Given the description of an element on the screen output the (x, y) to click on. 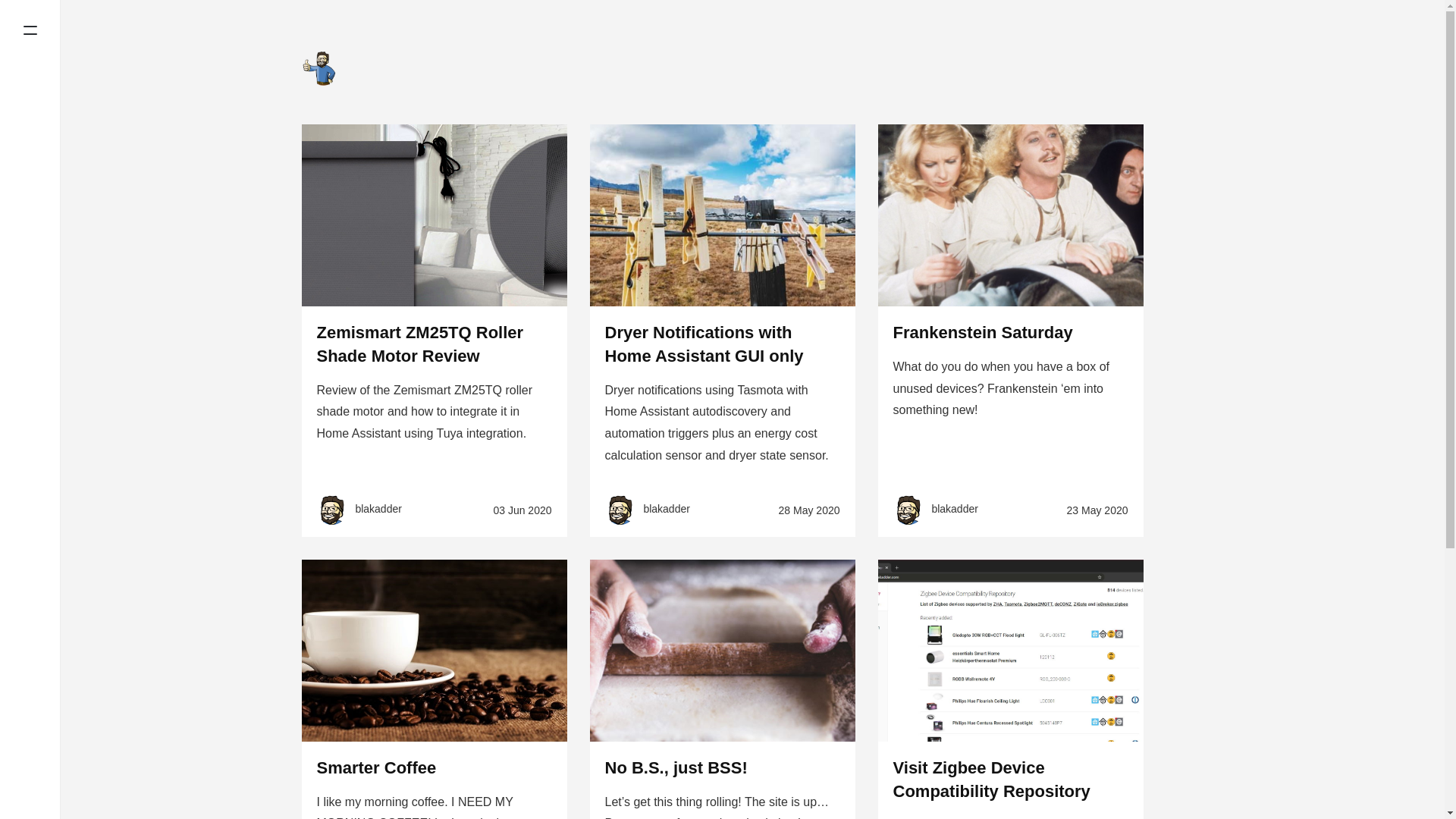
Dryer Notifications with Home Assistant GUI only (704, 343)
Frankenstein Saturday (983, 332)
No B.S., just BSS! (676, 767)
Zemismart ZM25TQ Roller Shade Motor Review (420, 343)
Smarter Coffee (376, 767)
Visit Zigbee Device Compatibility Repository (991, 779)
